Given the description of an element on the screen output the (x, y) to click on. 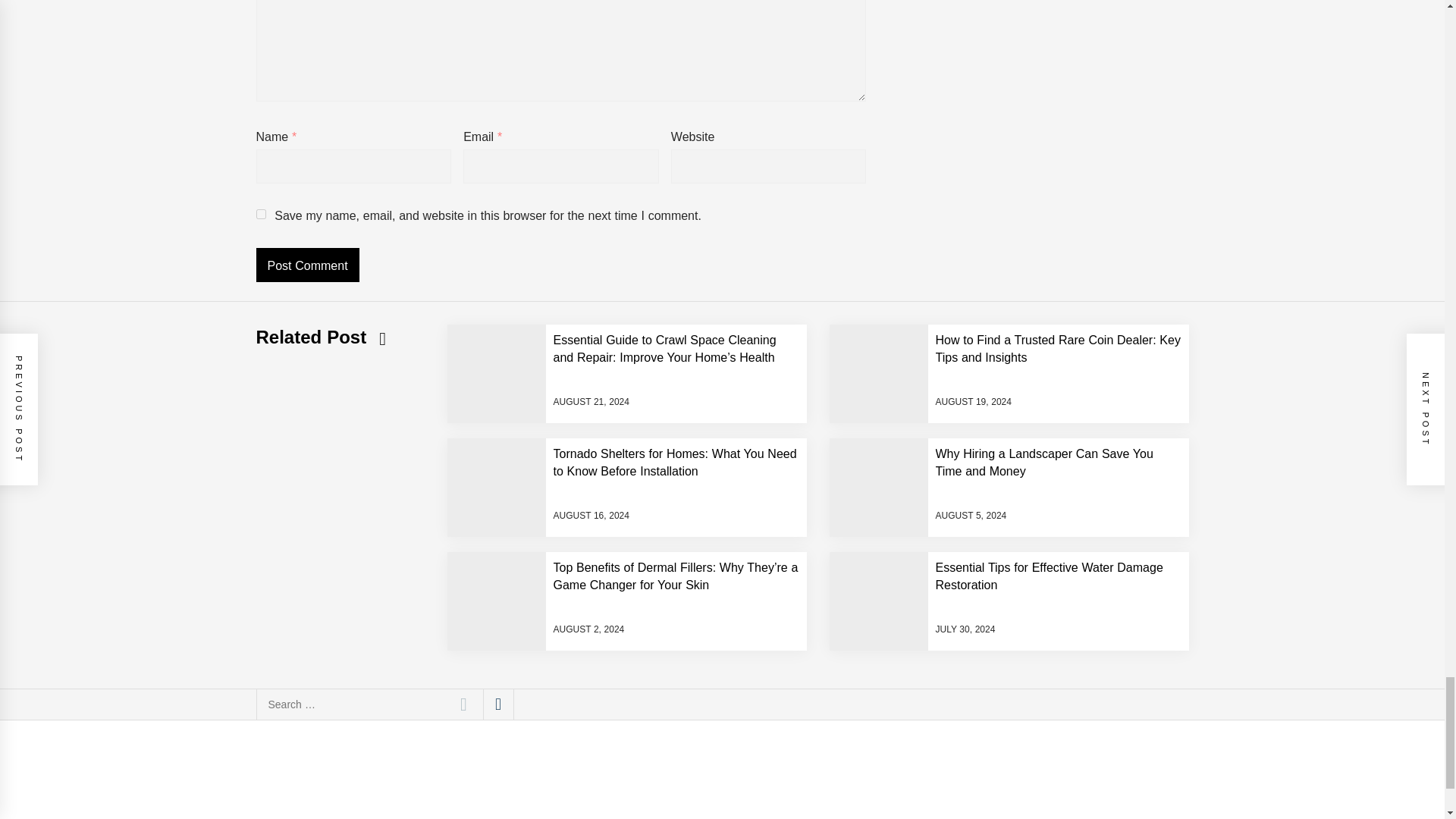
Search (462, 704)
yes (261, 214)
Search (462, 704)
Post Comment (307, 264)
